Given the description of an element on the screen output the (x, y) to click on. 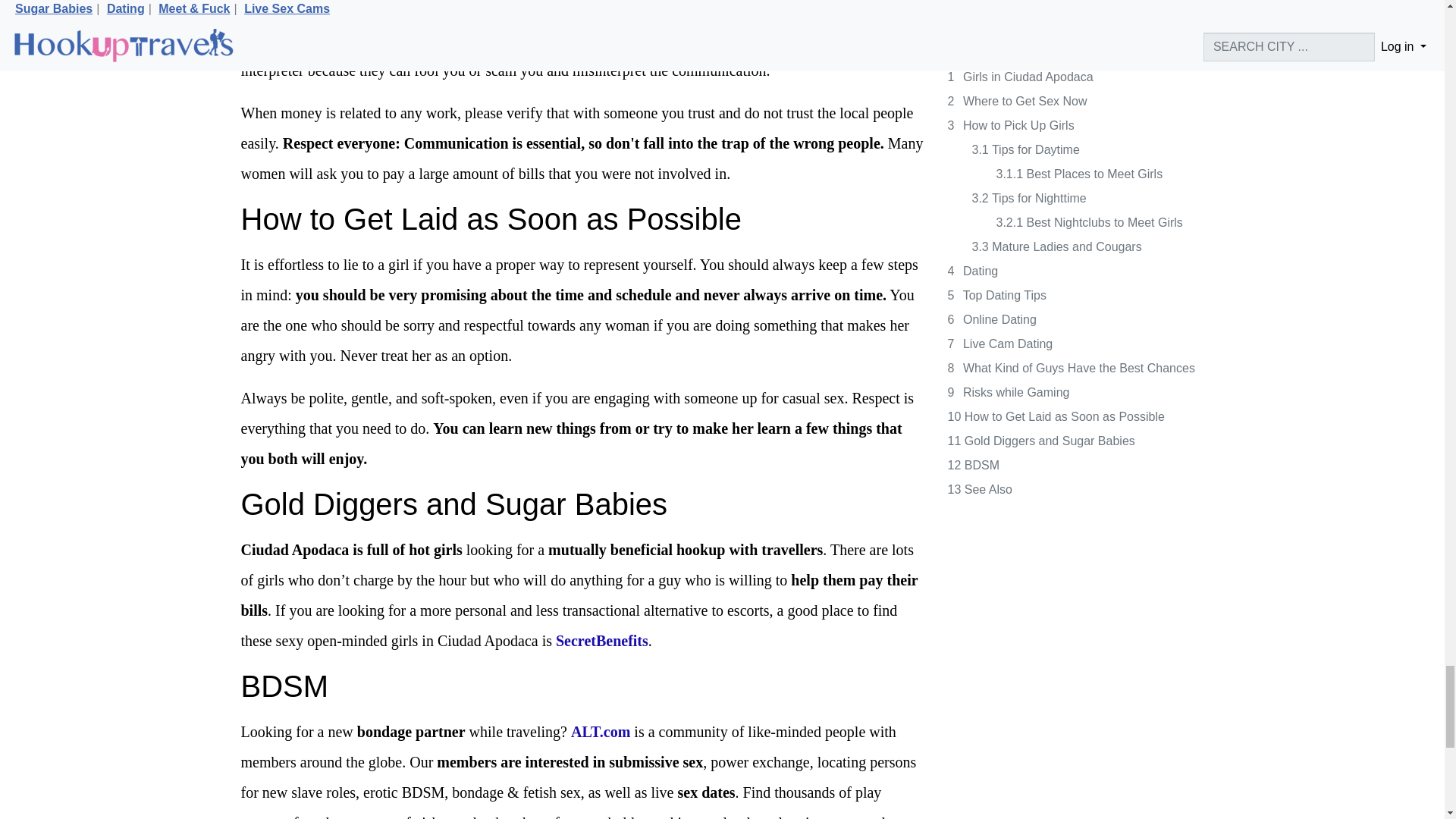
ALT.com (600, 731)
SecretBenefits (601, 640)
